Given the description of an element on the screen output the (x, y) to click on. 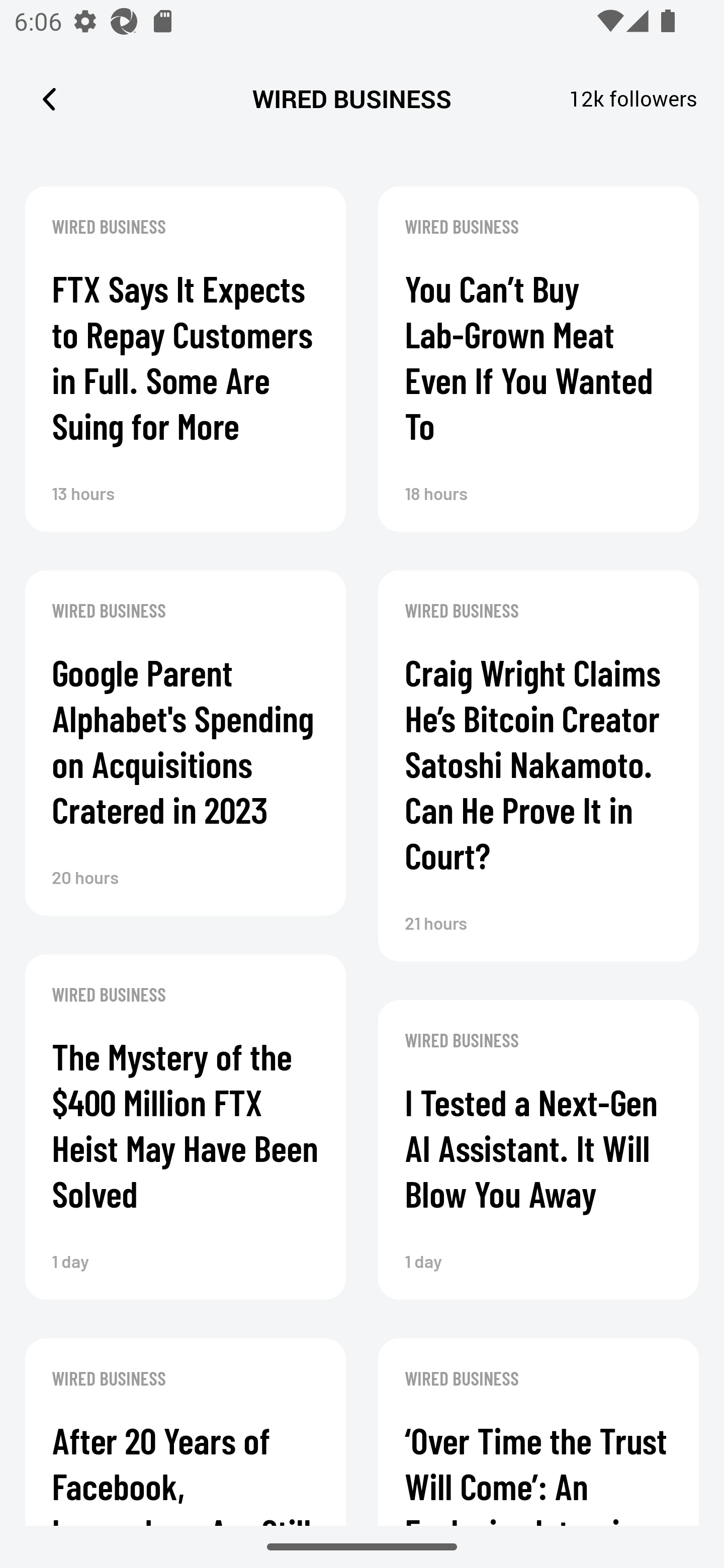
Leading Icon (49, 98)
